Given the description of an element on the screen output the (x, y) to click on. 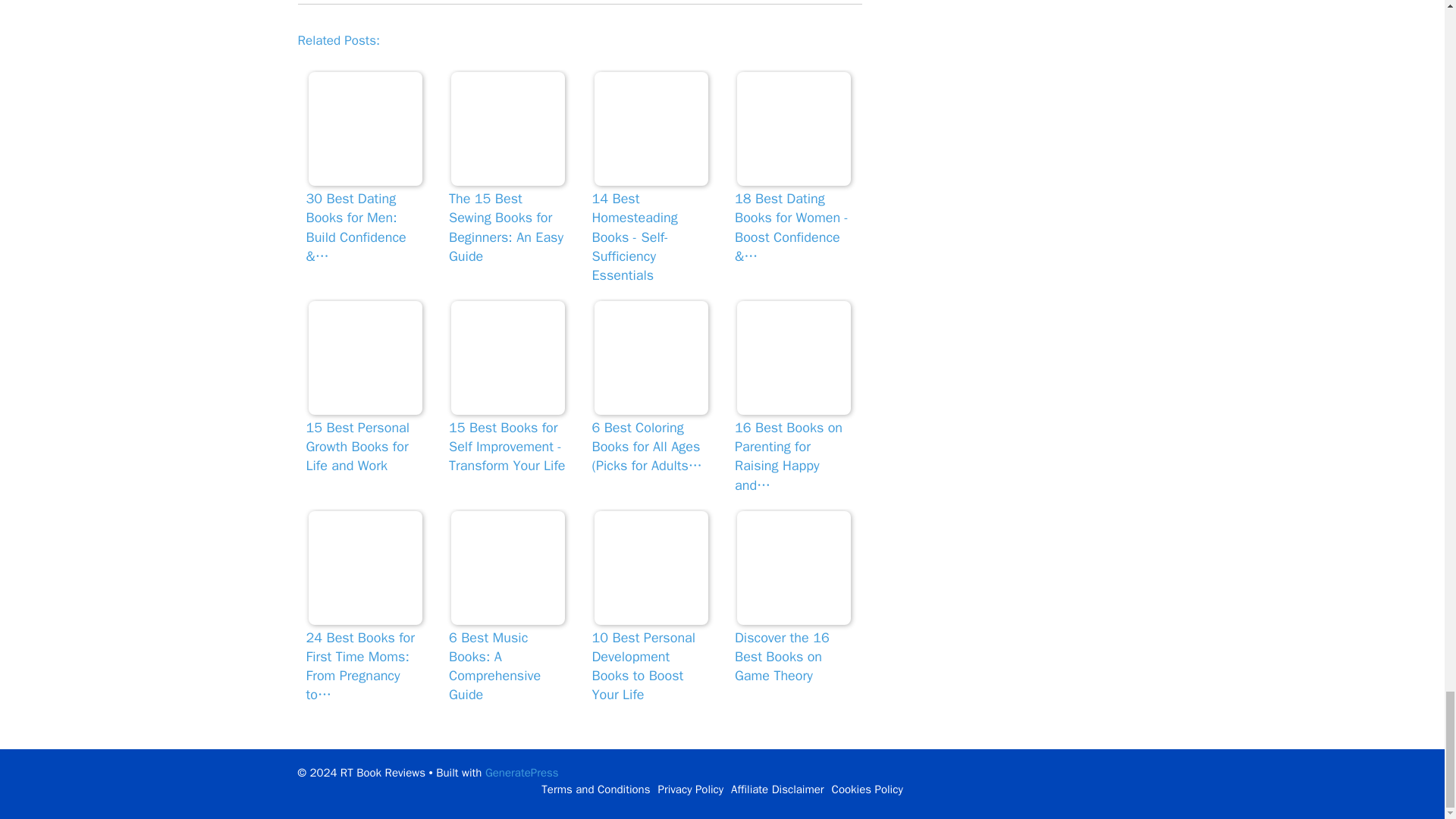
The 15 Best Sewing Books for Beginners: An Easy Guide (507, 128)
14 Best Homesteading Books - Self-Sufficiency Essentials (650, 128)
